Given the description of an element on the screen output the (x, y) to click on. 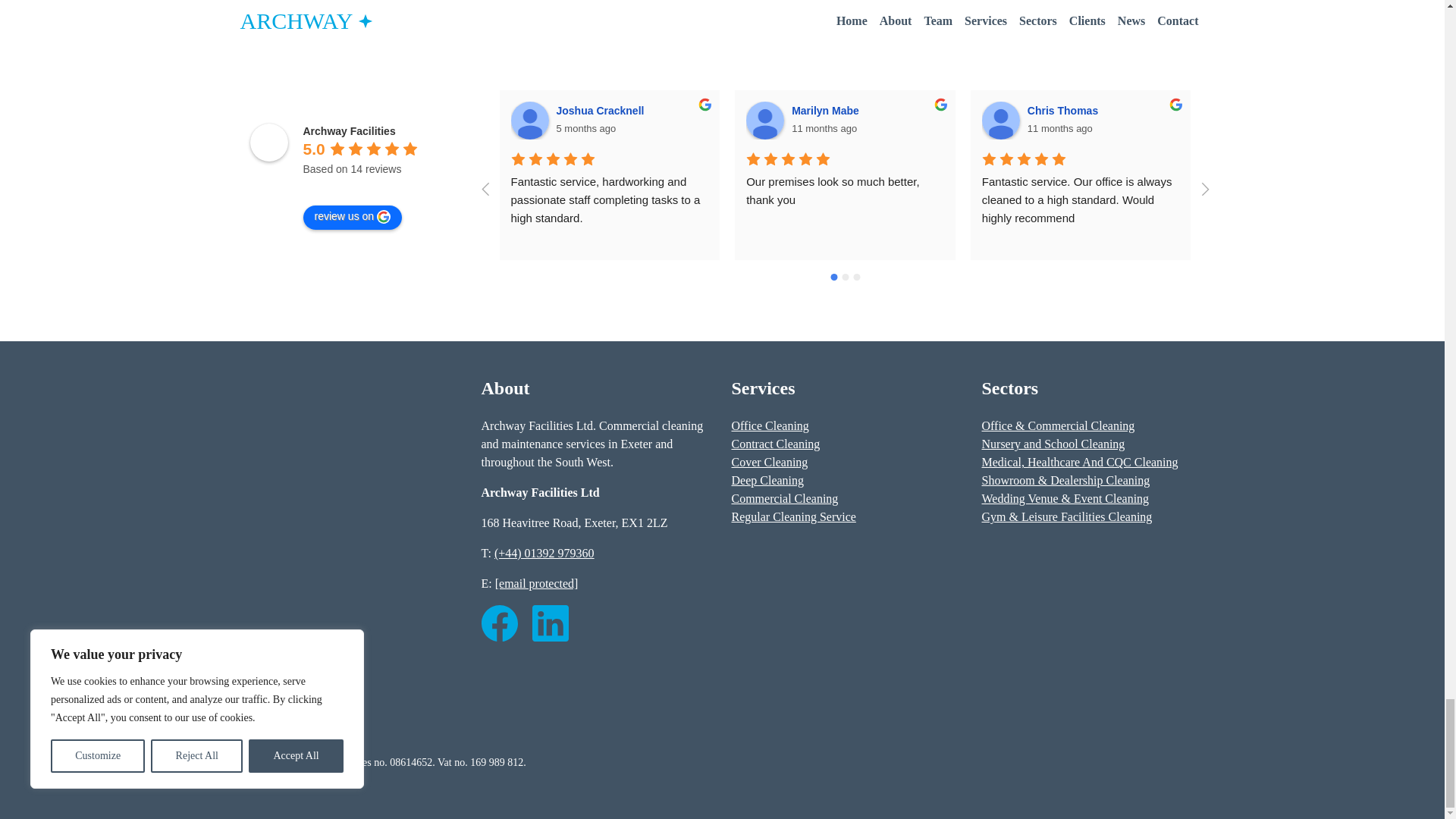
review us on (352, 217)
Contact us on Facebook (498, 621)
Marilyn Mabe (764, 120)
Chris Thomas (1064, 110)
Claire Williams (1236, 120)
Claire Williams (1302, 110)
Chris Thomas (1000, 120)
Contact us on LinkedIn (550, 621)
Marilyn Mabe (827, 110)
Joshua Cracknell (602, 110)
Archway Facilities (269, 142)
Joshua Cracknell (529, 120)
Archway Facilities (349, 131)
